Given the description of an element on the screen output the (x, y) to click on. 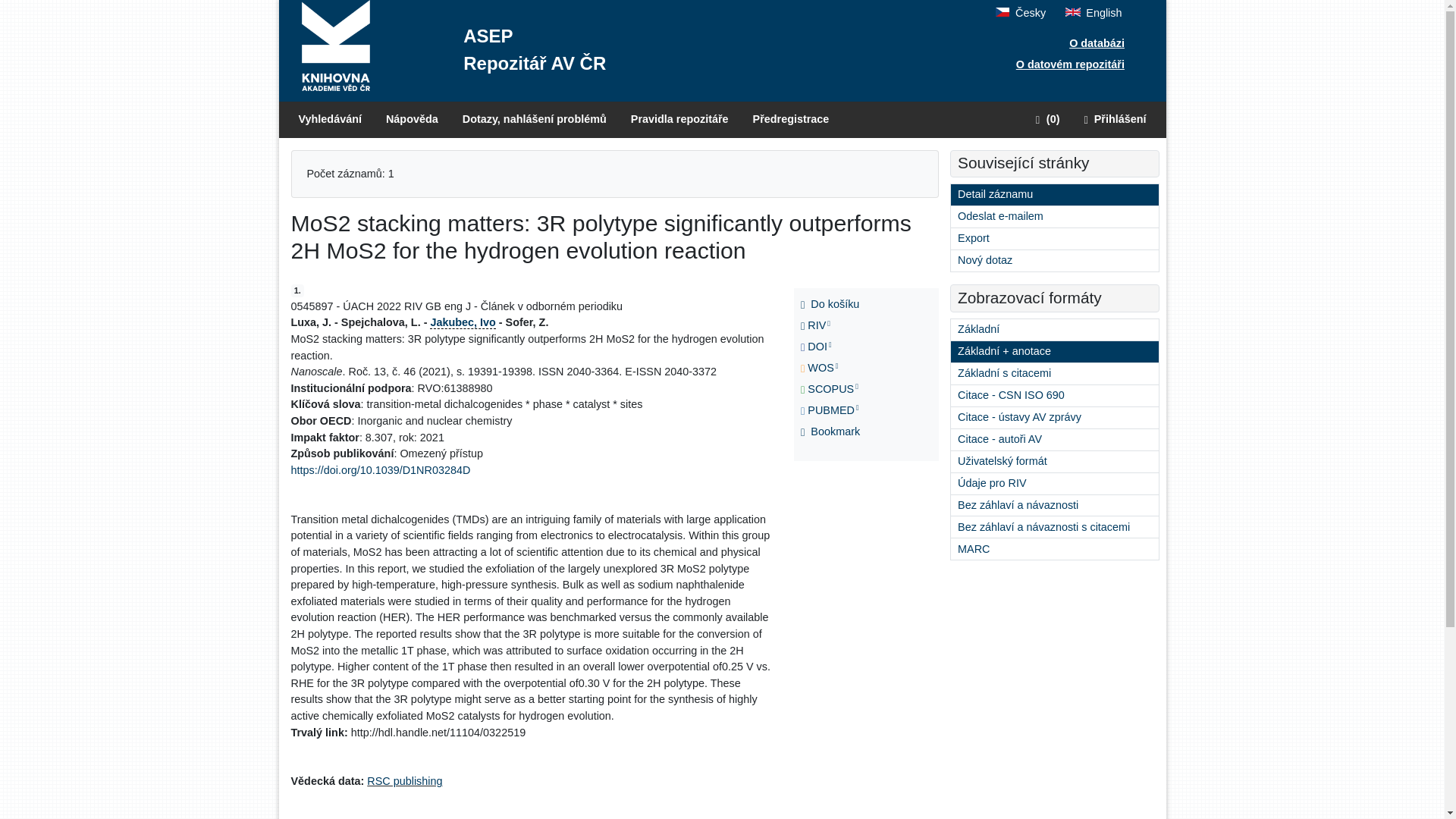
 RIV (832, 325)
English (1093, 12)
RSC publishing (404, 780)
Export (1054, 238)
Odeslat e-mailem (1054, 216)
  Bookmark (832, 432)
 PUBMED (832, 410)
English version (1093, 12)
 WOS (832, 368)
Citace - CSN ISO 690 (1054, 395)
